Given the description of an element on the screen output the (x, y) to click on. 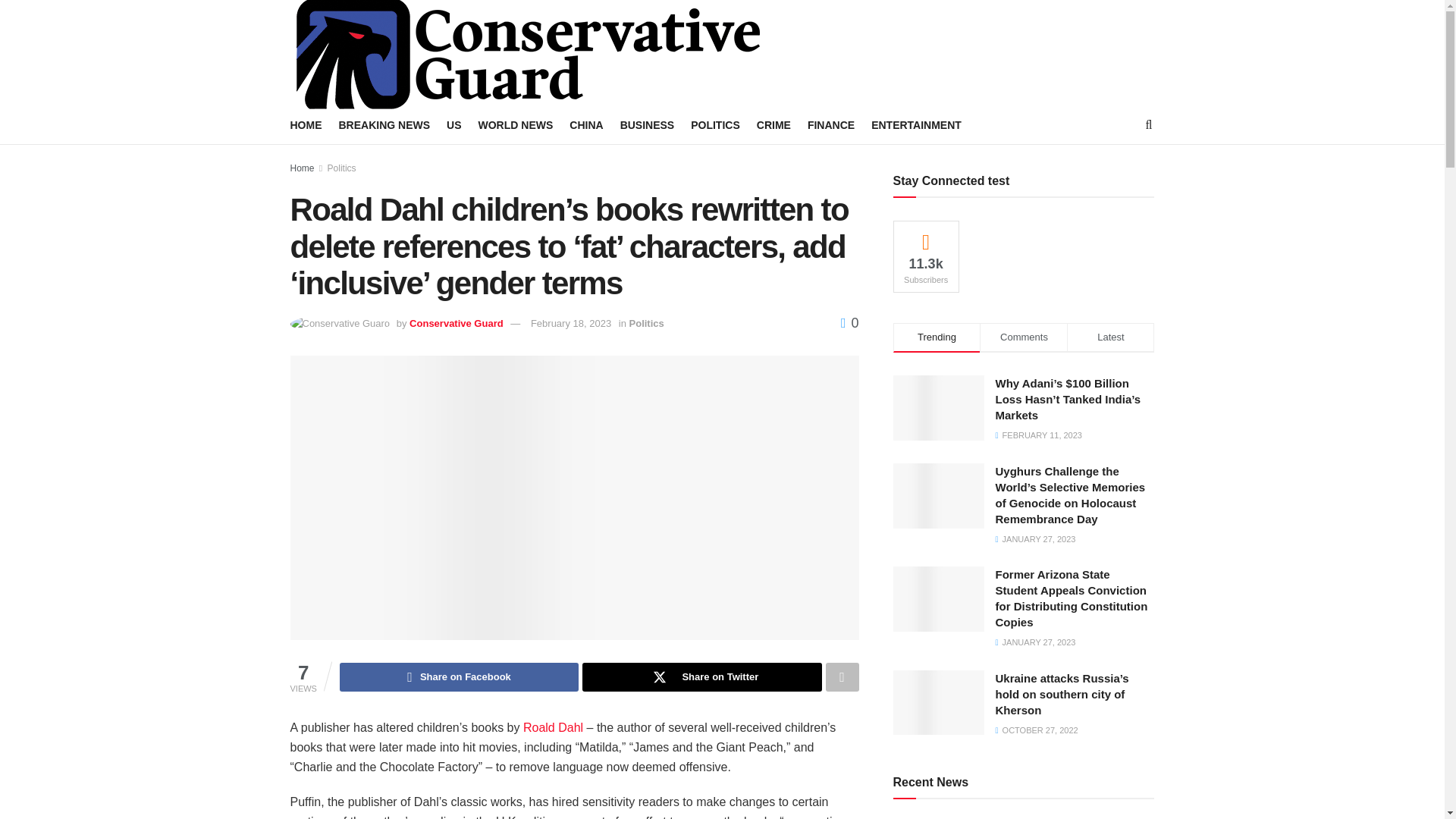
Home (301, 167)
Share on Twitter (701, 676)
ENTERTAINMENT (915, 124)
BUSINESS (647, 124)
CHINA (585, 124)
0 (850, 322)
Politics (341, 167)
POLITICS (714, 124)
FINANCE (831, 124)
Conservative Guard (456, 323)
HOME (305, 124)
February 18, 2023 (571, 323)
CRIME (773, 124)
WORLD NEWS (516, 124)
BREAKING NEWS (383, 124)
